Given the description of an element on the screen output the (x, y) to click on. 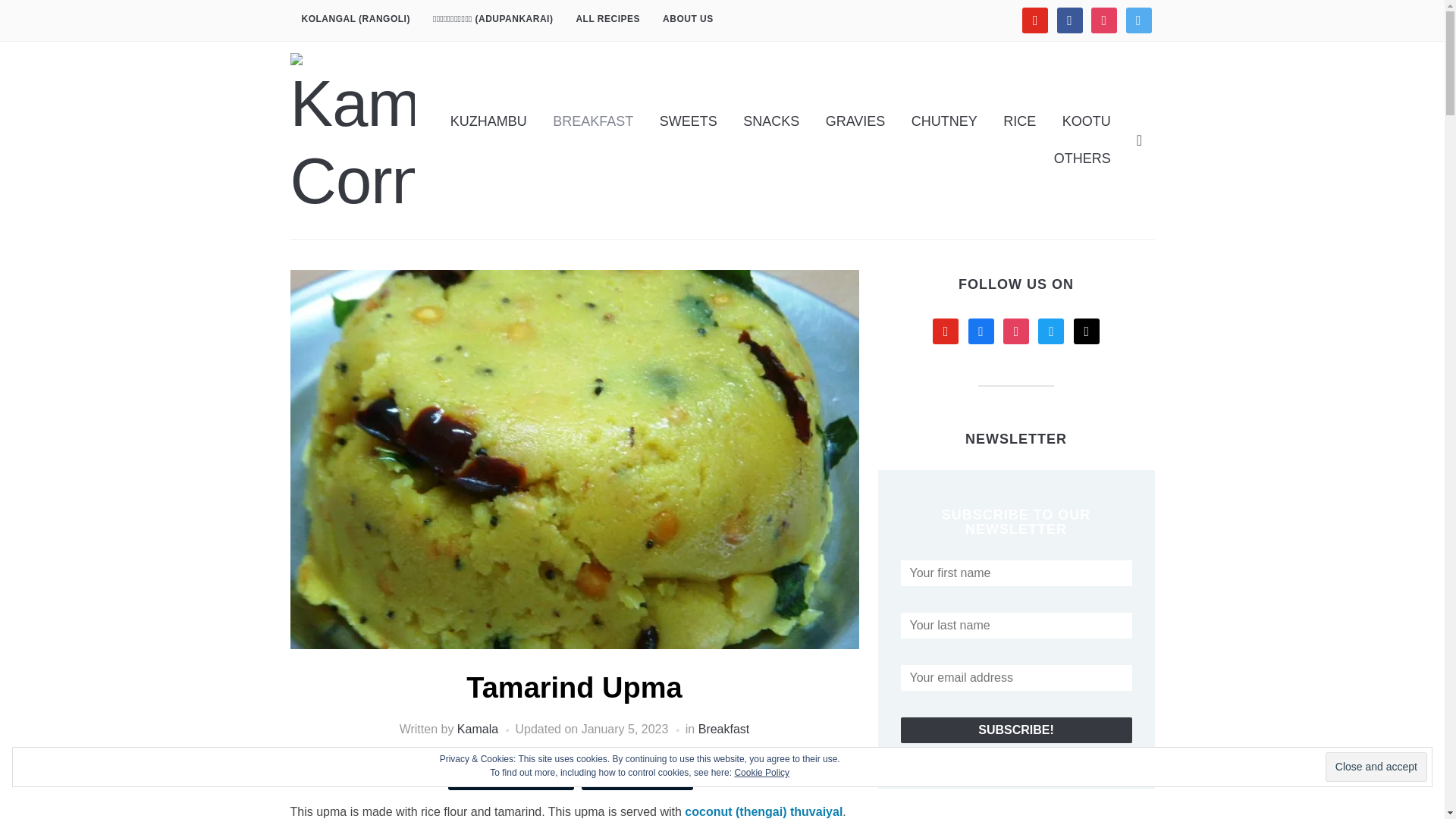
facebook (1070, 19)
RICE (1018, 121)
Search (1139, 140)
instagram (1103, 19)
Follow Me (1138, 19)
SNACKS (771, 121)
Posts by Kamala (477, 728)
ABOUT US (687, 19)
Friend me on Facebook (1070, 19)
twitter (1138, 19)
KOOTU (1086, 121)
KUZHAMBU (488, 121)
Subscribe! (1016, 729)
SWEETS (688, 121)
Close and accept (1375, 767)
